Given the description of an element on the screen output the (x, y) to click on. 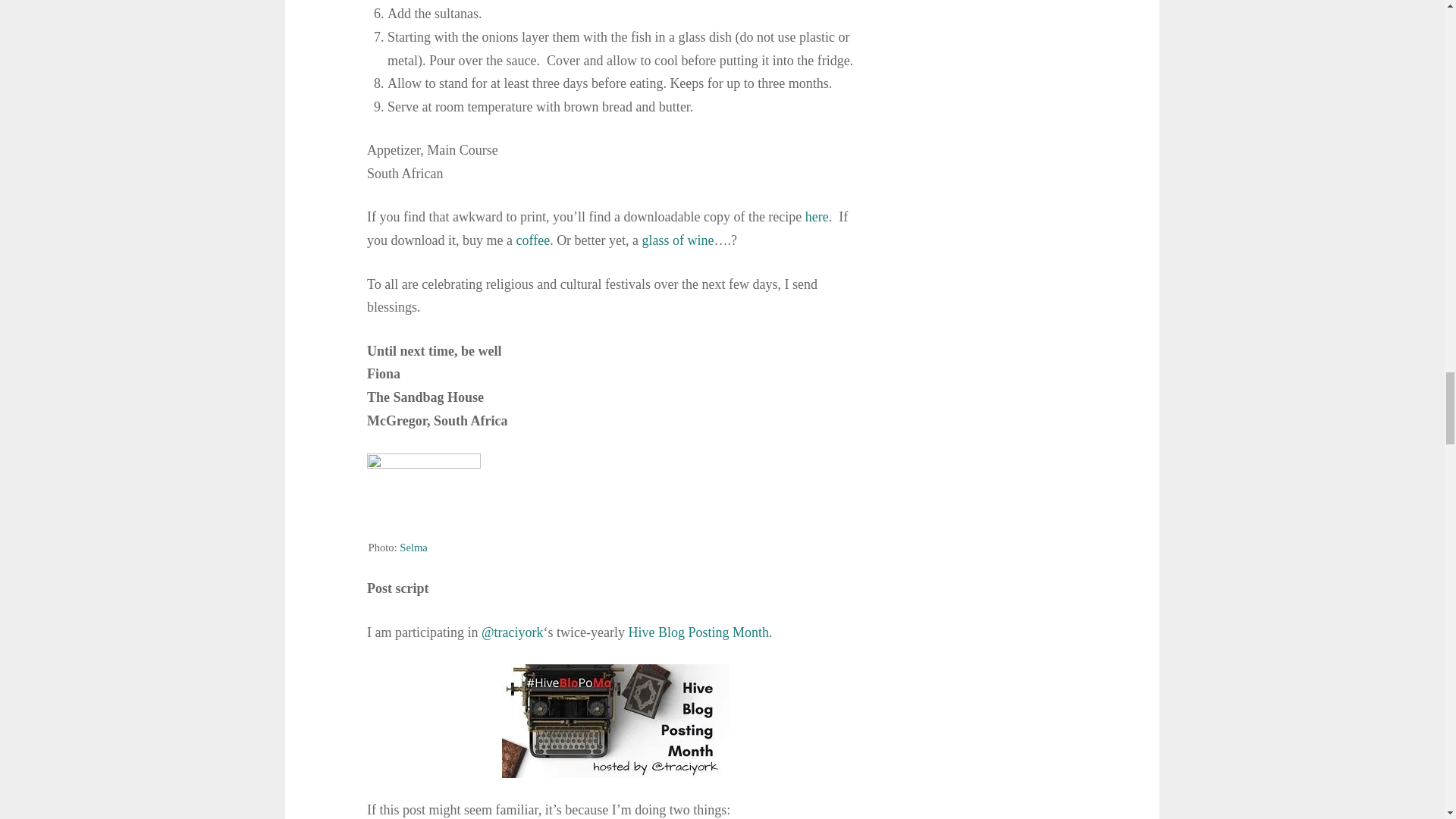
here (816, 216)
Hive Blog Posting Month (697, 631)
Selma (413, 547)
coffee (532, 240)
glass of wine (678, 240)
